Given the description of an element on the screen output the (x, y) to click on. 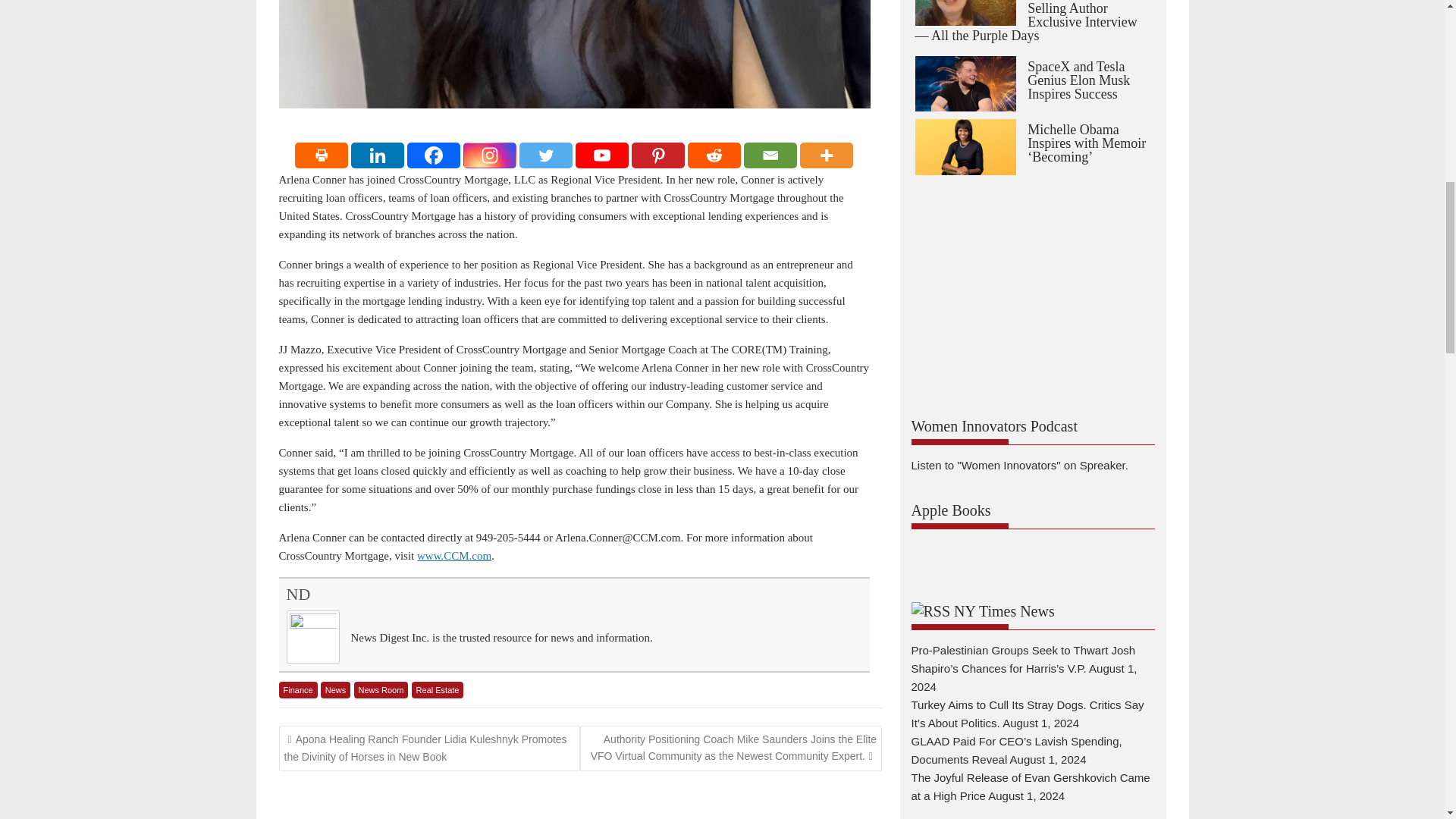
Twitter (545, 155)
Linkedin (377, 155)
Facebook (433, 155)
Print (321, 155)
Instagram (489, 155)
Youtube (601, 155)
www.CCM.com (454, 555)
Email (770, 155)
News (335, 689)
Finance (298, 689)
